Given the description of an element on the screen output the (x, y) to click on. 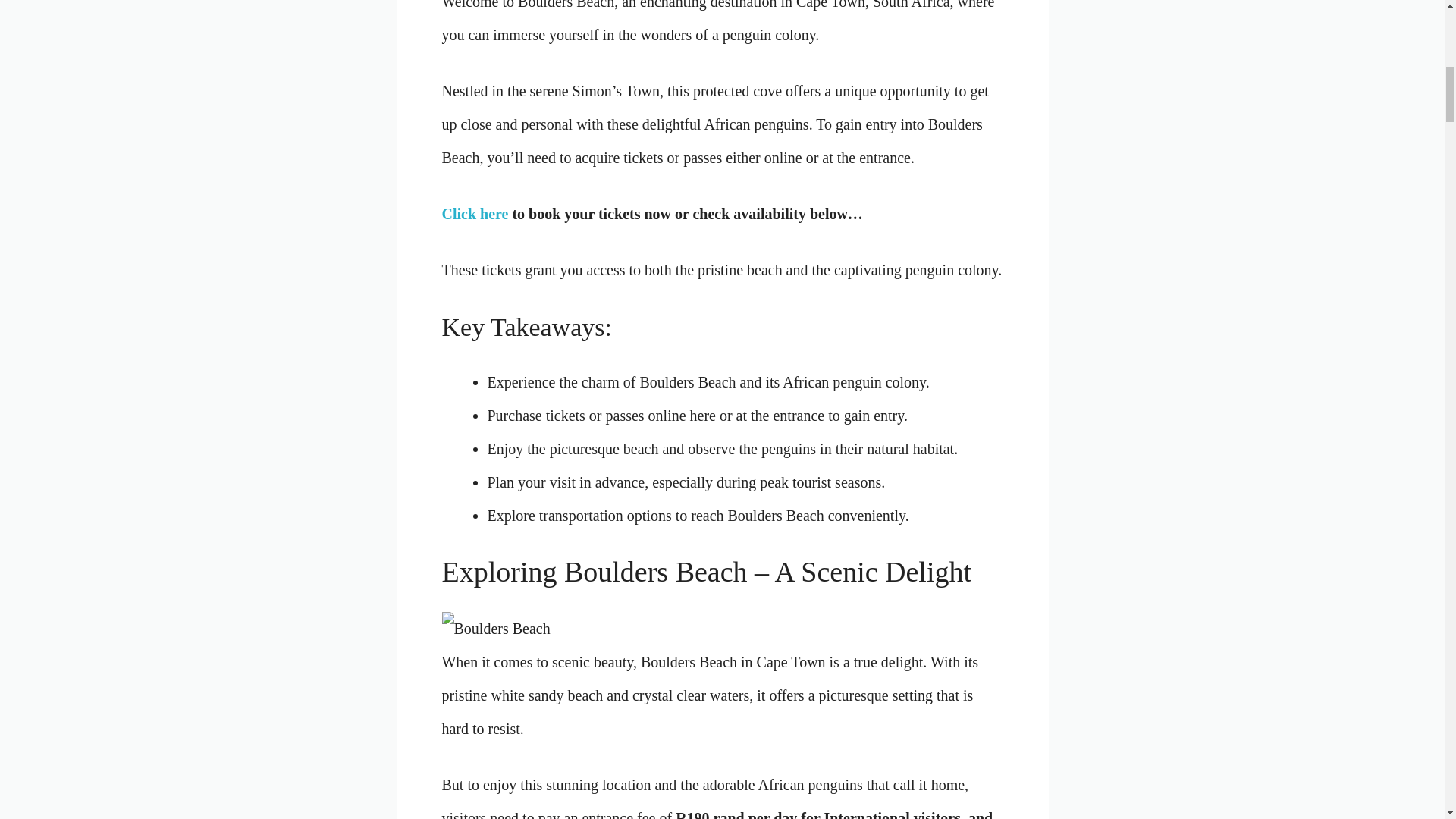
Boulders Beach (687, 381)
Click here (474, 213)
here (703, 415)
